Given the description of an element on the screen output the (x, y) to click on. 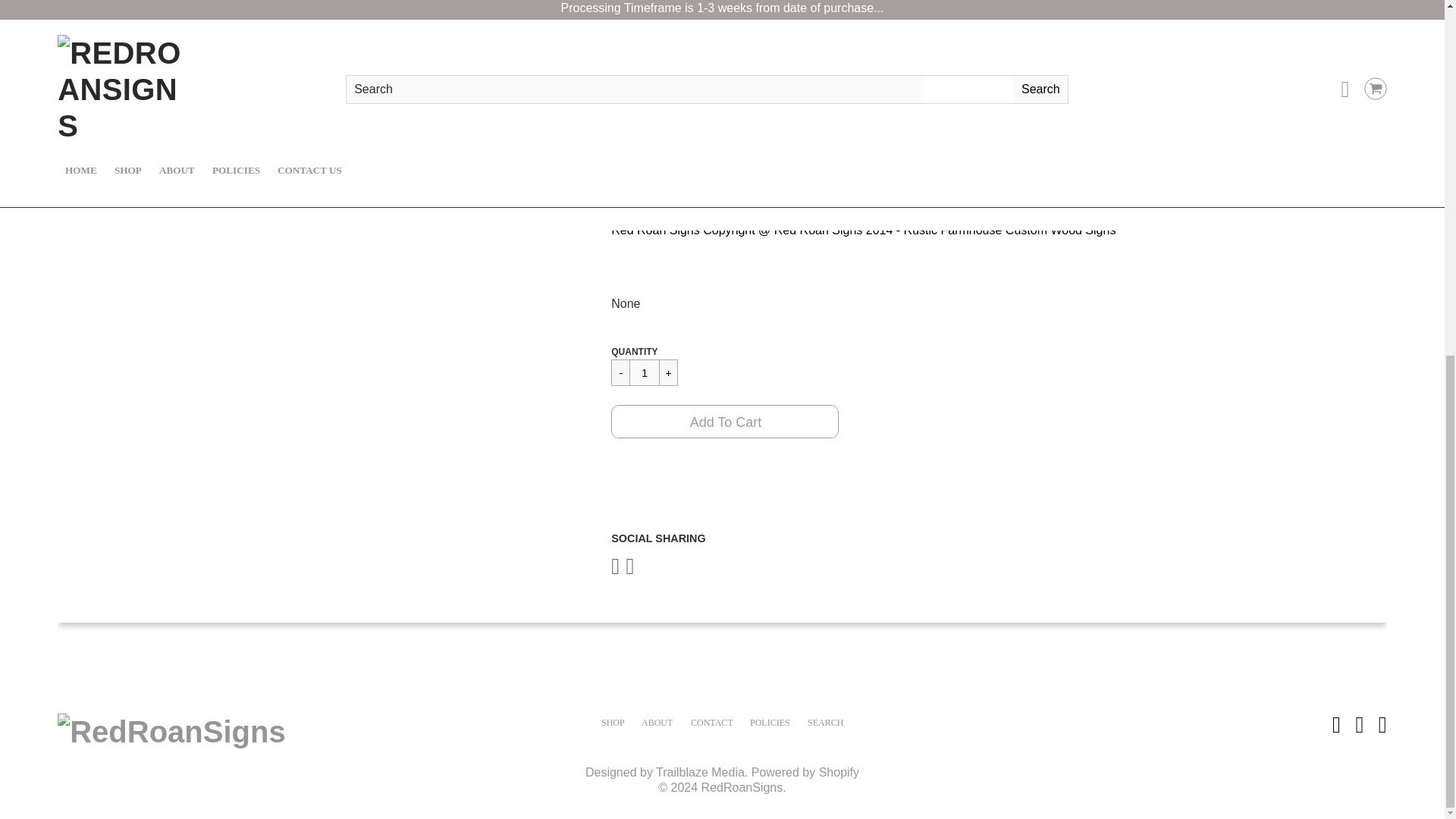
TrailblazeMedia.com (700, 771)
1 (643, 372)
